Given the description of an element on the screen output the (x, y) to click on. 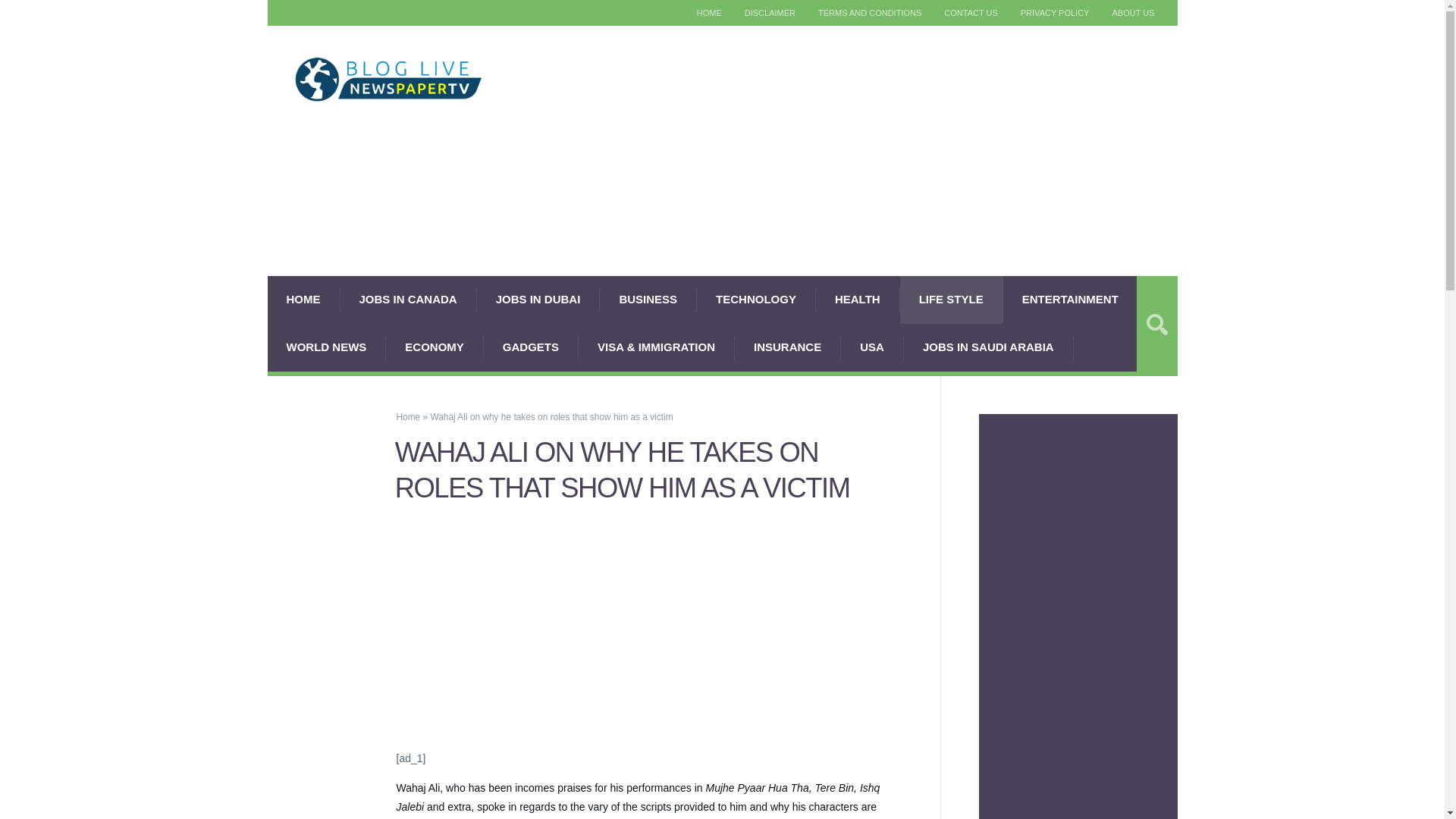
CONTACT US (971, 13)
BUSINESS (648, 299)
HEALTH (857, 299)
JOBS IN CANADA (407, 299)
Home (408, 416)
HOME (709, 13)
JOBS IN DUBAI (538, 299)
PRIVACY POLICY (1054, 13)
HOME (302, 299)
Advertisement (648, 636)
Advertisement (1077, 626)
DISCLAIMER (769, 13)
TERMS AND CONDITIONS (869, 13)
INSURANCE (788, 347)
